Given the description of an element on the screen output the (x, y) to click on. 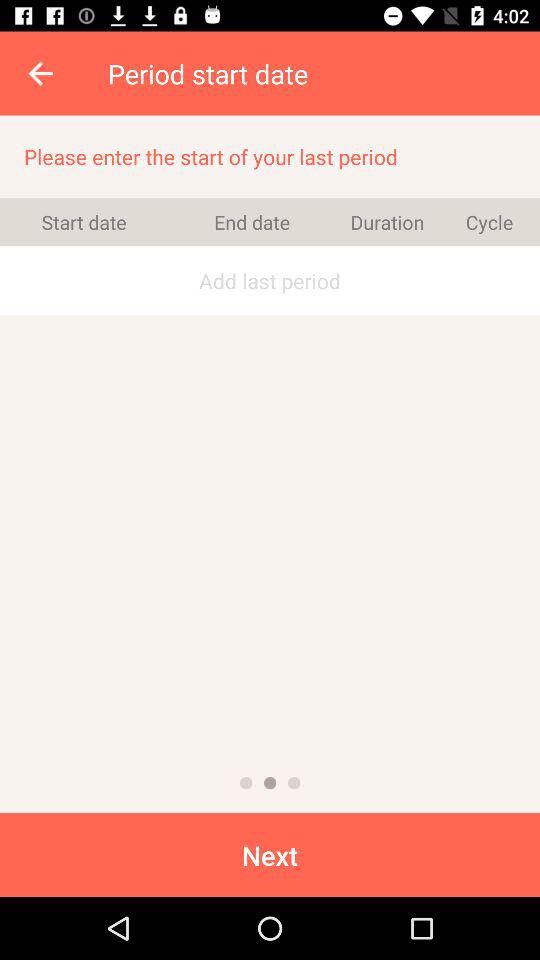
toggle to previous (270, 783)
